Given the description of an element on the screen output the (x, y) to click on. 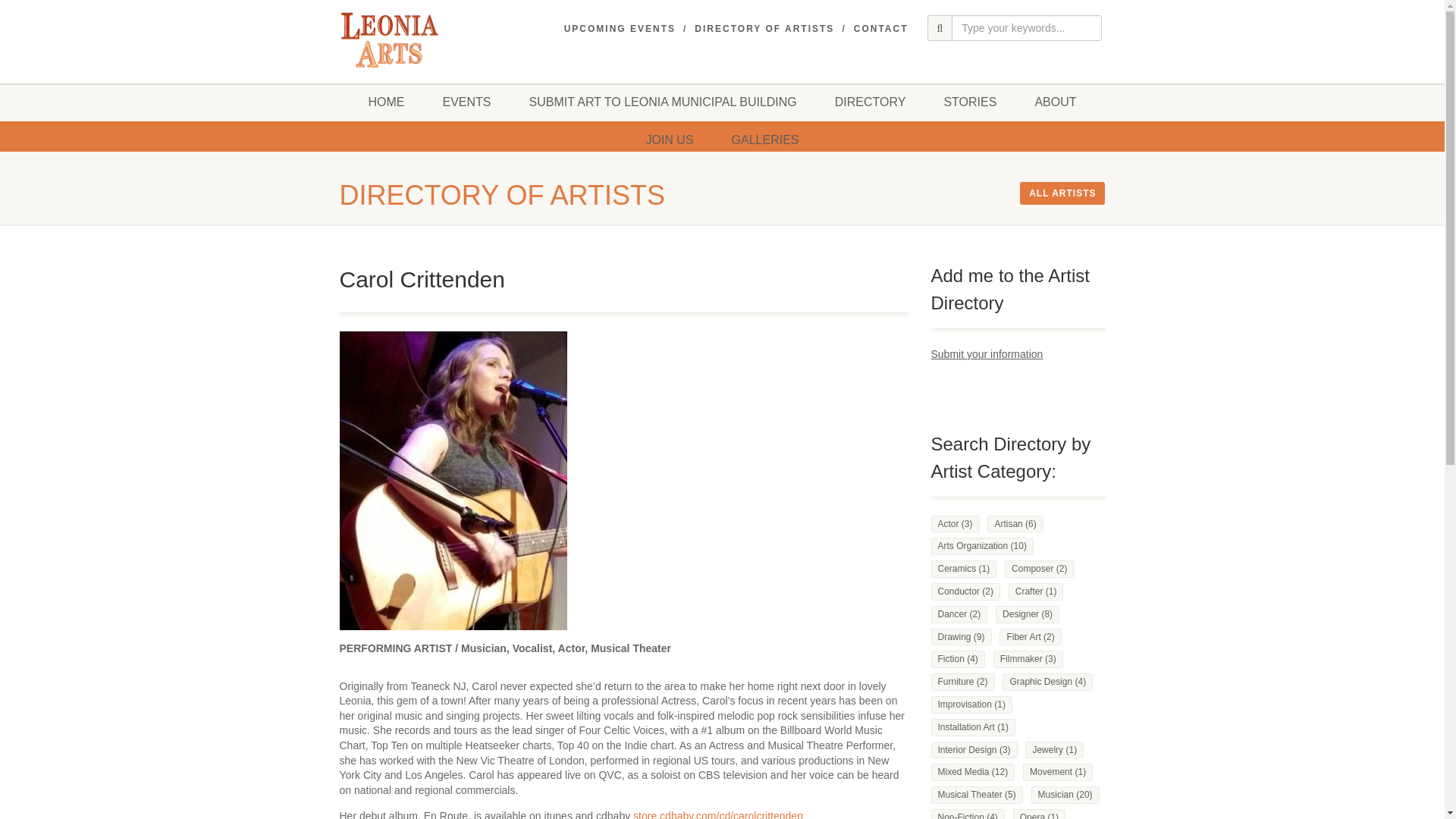
EVENTS (466, 102)
STORIES (969, 102)
ALL ARTISTS (1062, 192)
Logo (393, 39)
CONTACT (880, 29)
GALLERIES (765, 139)
HOME (386, 102)
SUBMIT ART TO LEONIA MUNICIPAL BUILDING (662, 102)
DIRECTORY OF ARTISTS (764, 29)
JOIN US (668, 139)
